Given the description of an element on the screen output the (x, y) to click on. 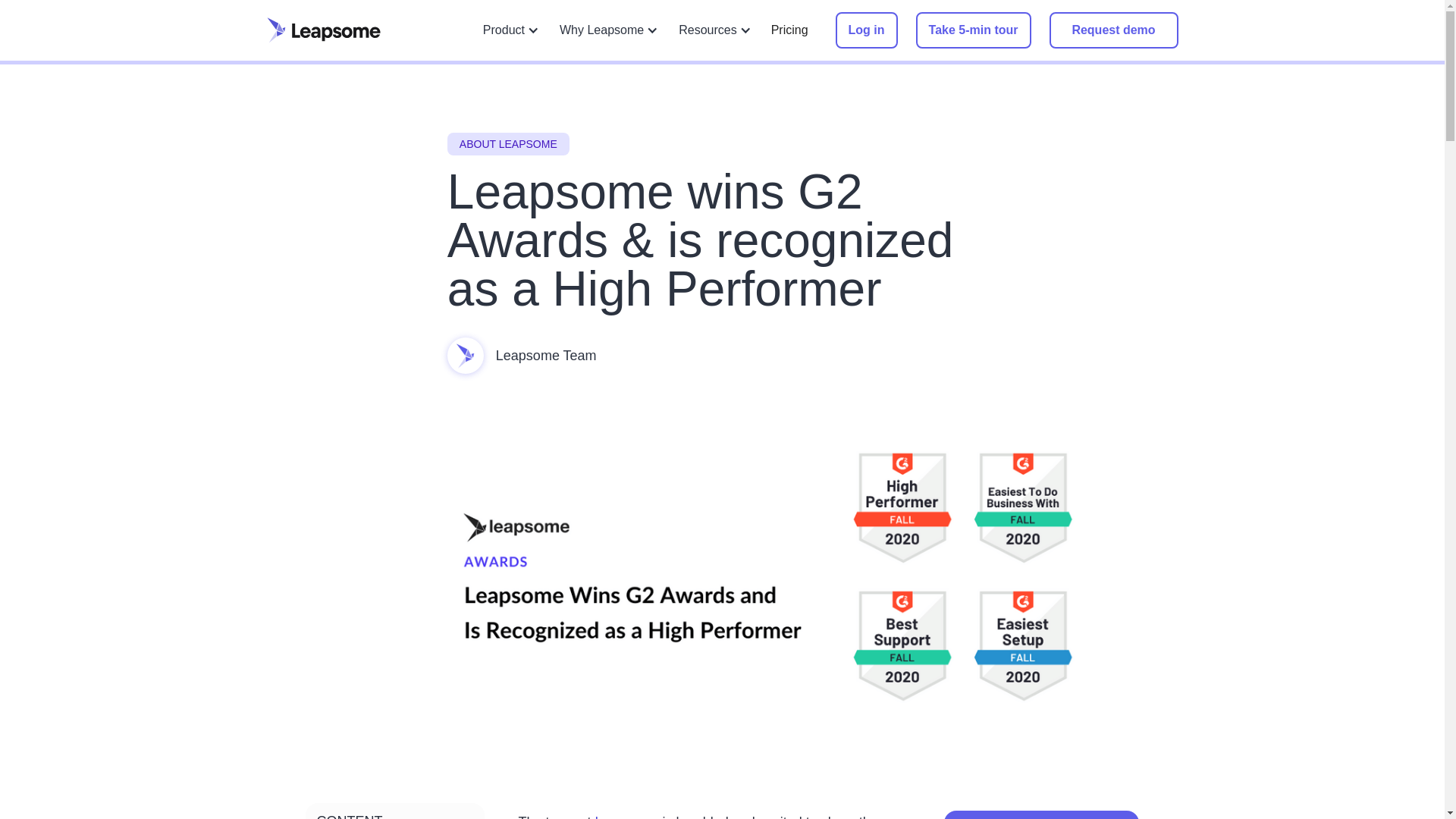
Request demo (1113, 30)
Take 5-min tour (972, 30)
Pricing (789, 30)
Log in (866, 30)
Leapsome (627, 816)
